Given the description of an element on the screen output the (x, y) to click on. 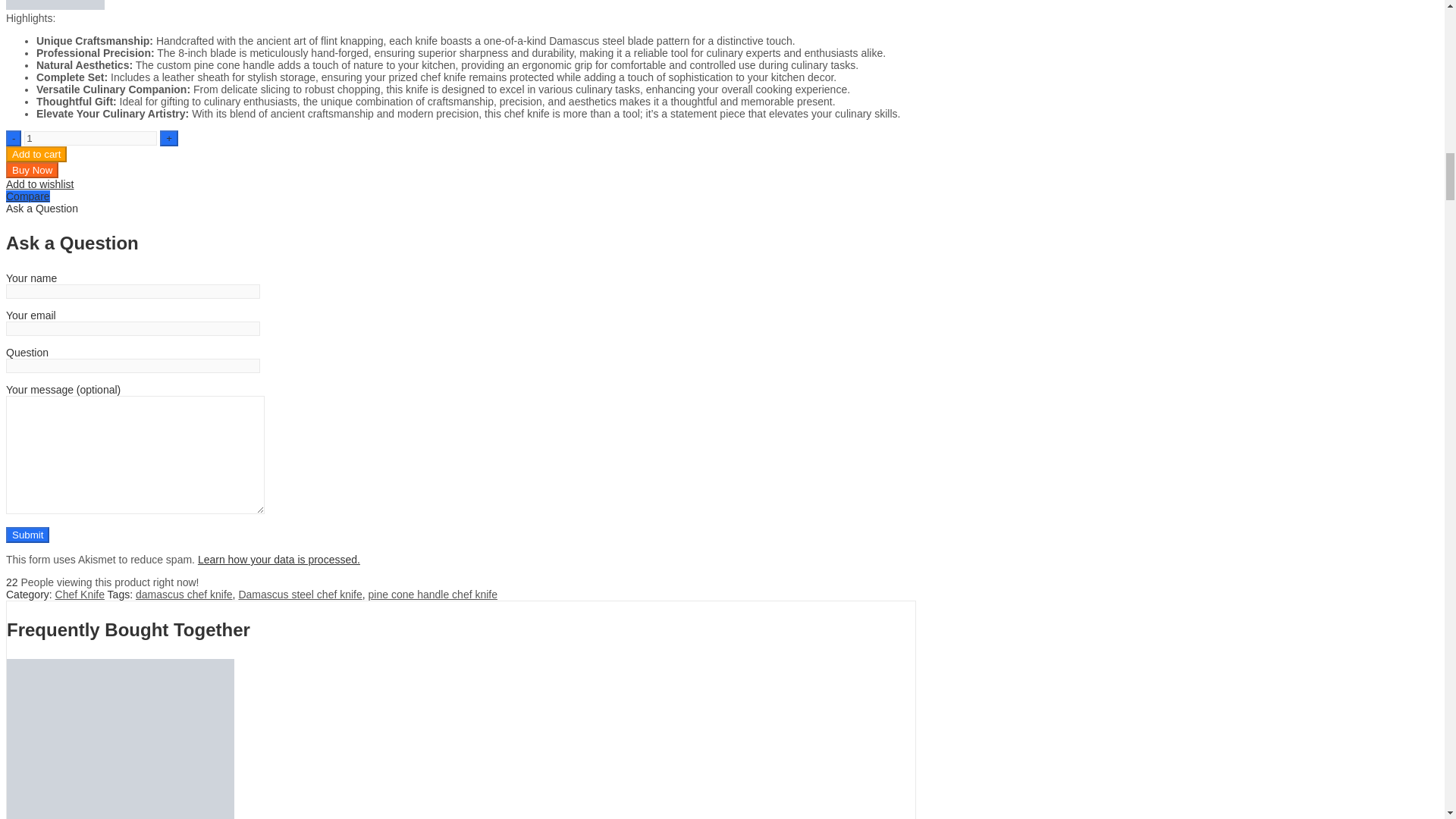
1 (90, 138)
Submit (27, 534)
Qty (90, 138)
- (13, 138)
Ansari Forge (54, 6)
